Given the description of an element on the screen output the (x, y) to click on. 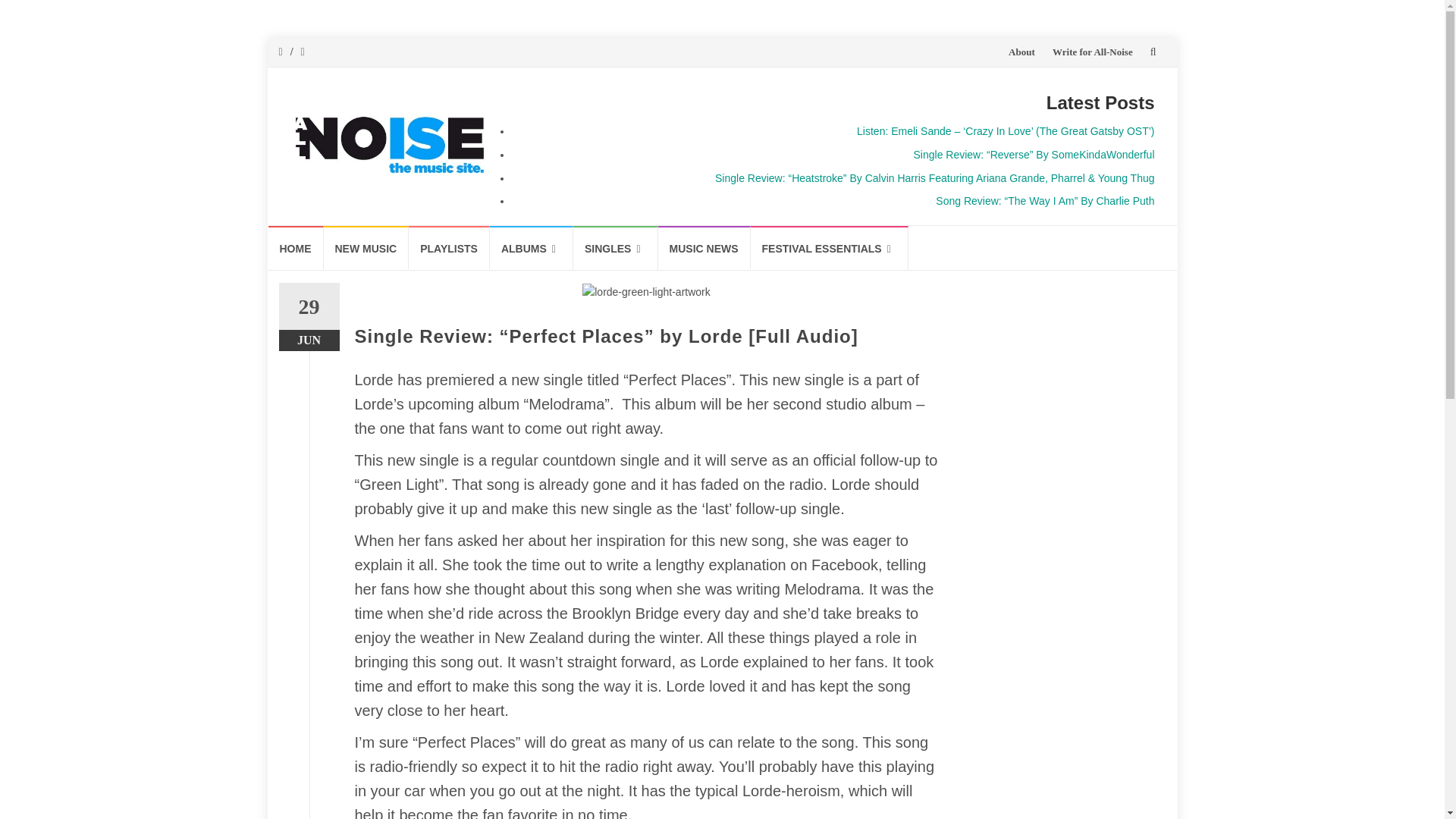
NEW MUSIC (366, 247)
About (1022, 51)
HOME (295, 247)
SINGLES (615, 248)
PLAYLISTS (449, 247)
FESTIVAL ESSENTIALS (829, 248)
MUSIC NEWS (704, 247)
